Given the description of an element on the screen output the (x, y) to click on. 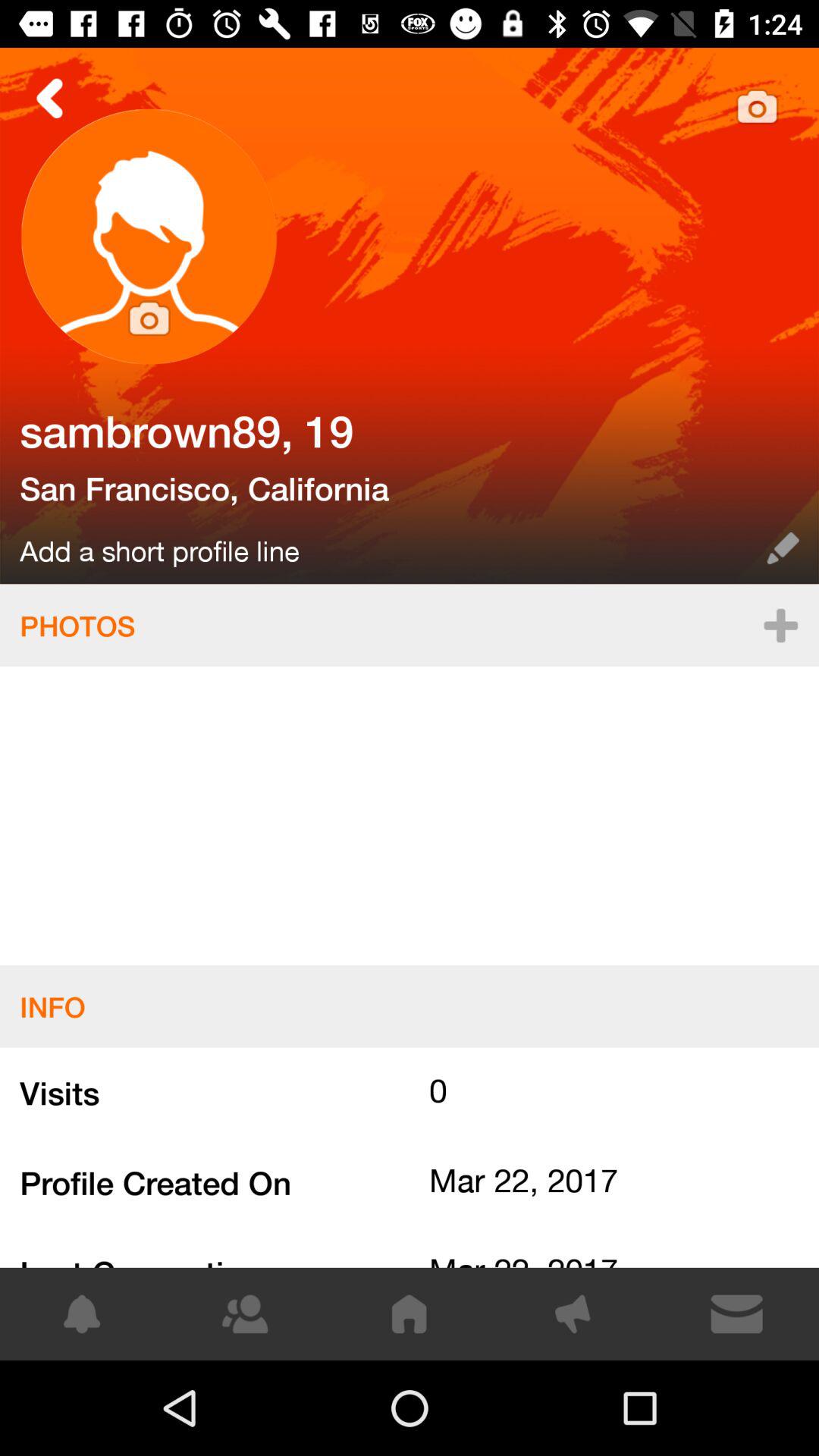
edit button (783, 548)
